Given the description of an element on the screen output the (x, y) to click on. 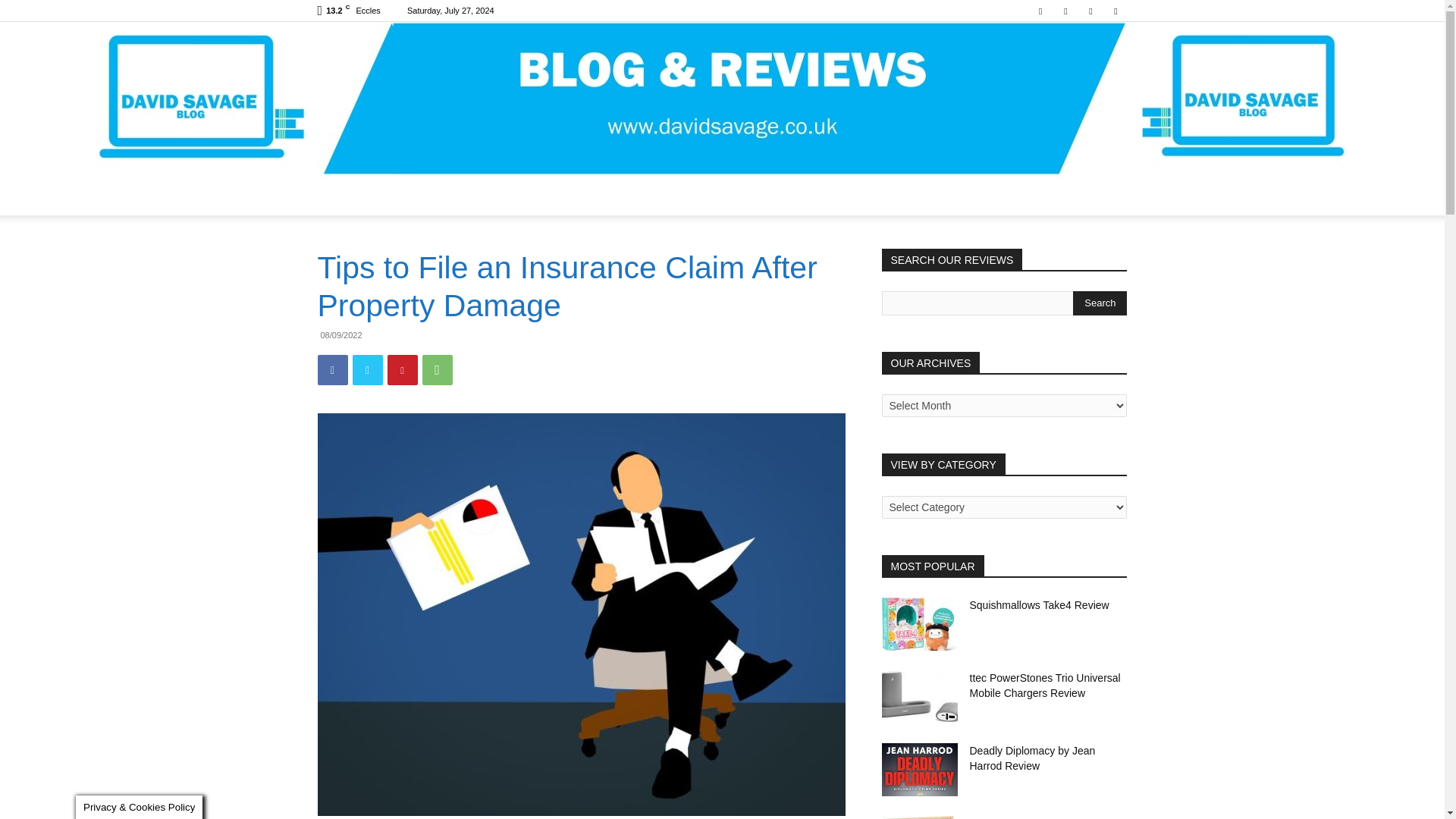
Facebook (332, 369)
ABOUT (399, 197)
Twitter (1114, 10)
WhatsApp (436, 369)
Facebook (1040, 10)
Twitter (366, 369)
HOME (343, 197)
Search (1099, 303)
RSS (1090, 10)
Mail (1065, 10)
Pinterest (401, 369)
